Given the description of an element on the screen output the (x, y) to click on. 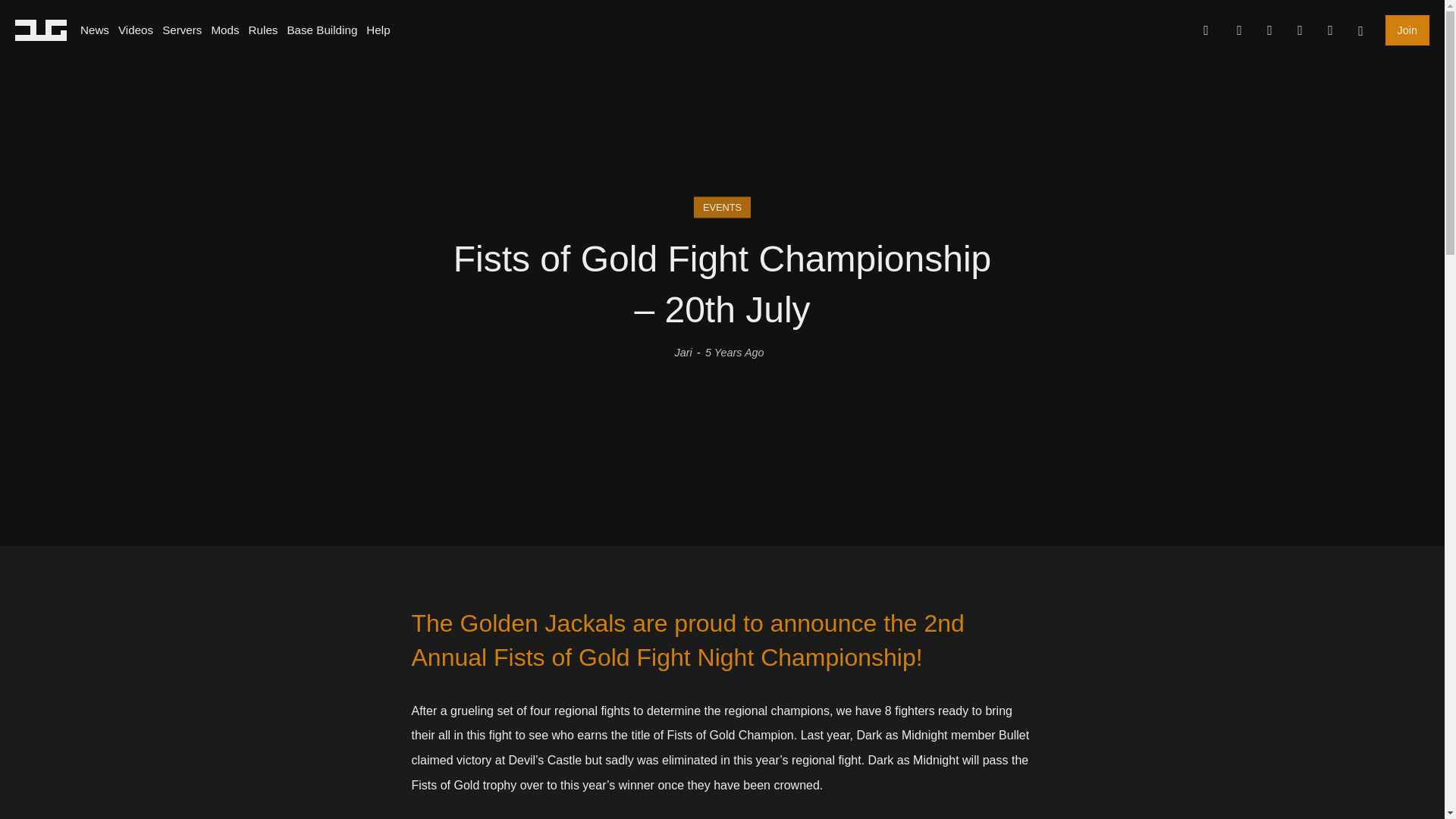
Servers (181, 30)
EVENTS (722, 207)
Videos (135, 30)
Rules (263, 30)
Help (377, 30)
Base Building (321, 30)
News (94, 30)
Fists of Gold 2019 Championship Event (600, 816)
Mods (224, 30)
Jari (682, 351)
